Given the description of an element on the screen output the (x, y) to click on. 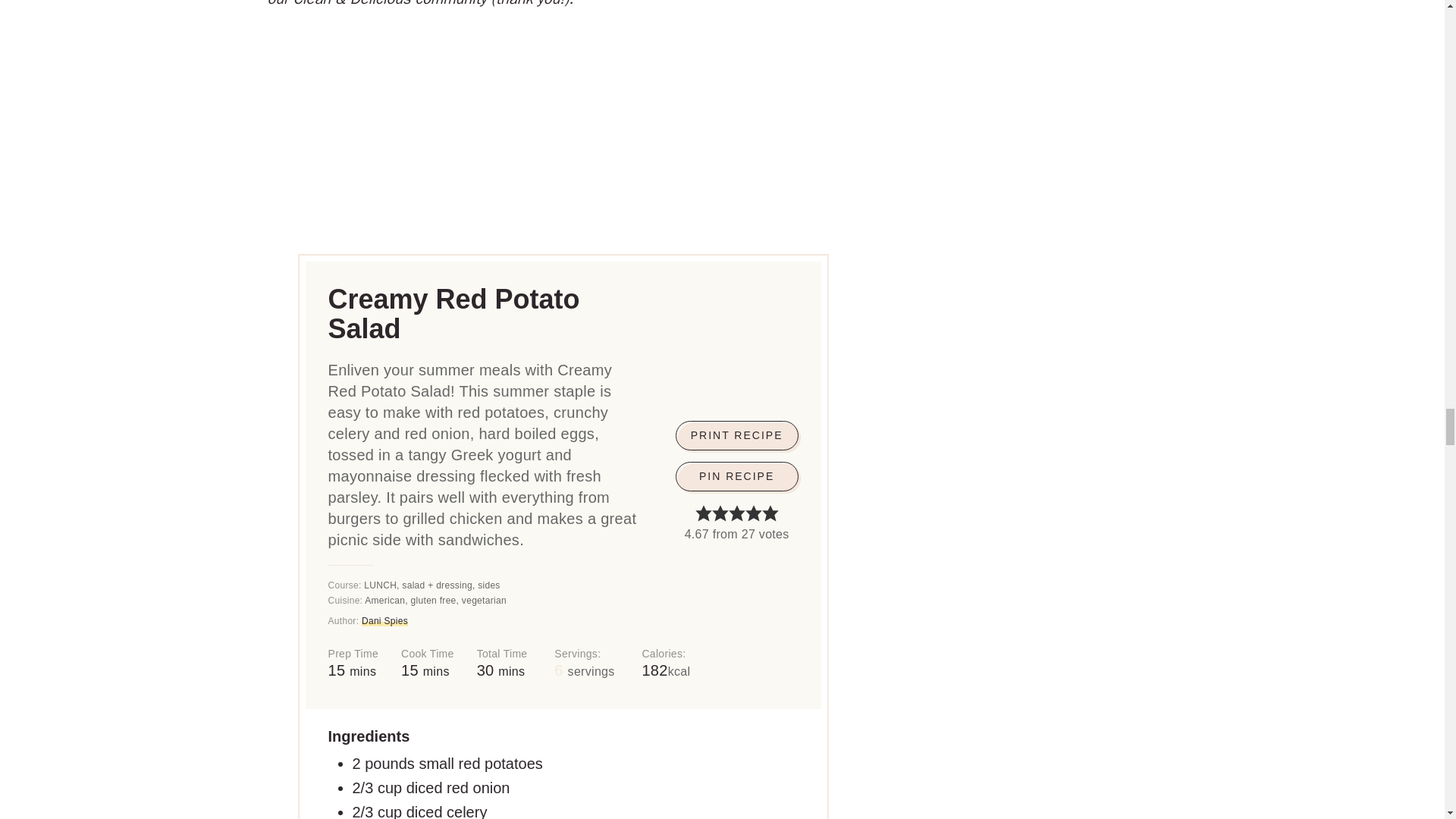
PIN RECIPE (736, 476)
PRINT RECIPE (736, 435)
Dani Spies (384, 620)
